Given the description of an element on the screen output the (x, y) to click on. 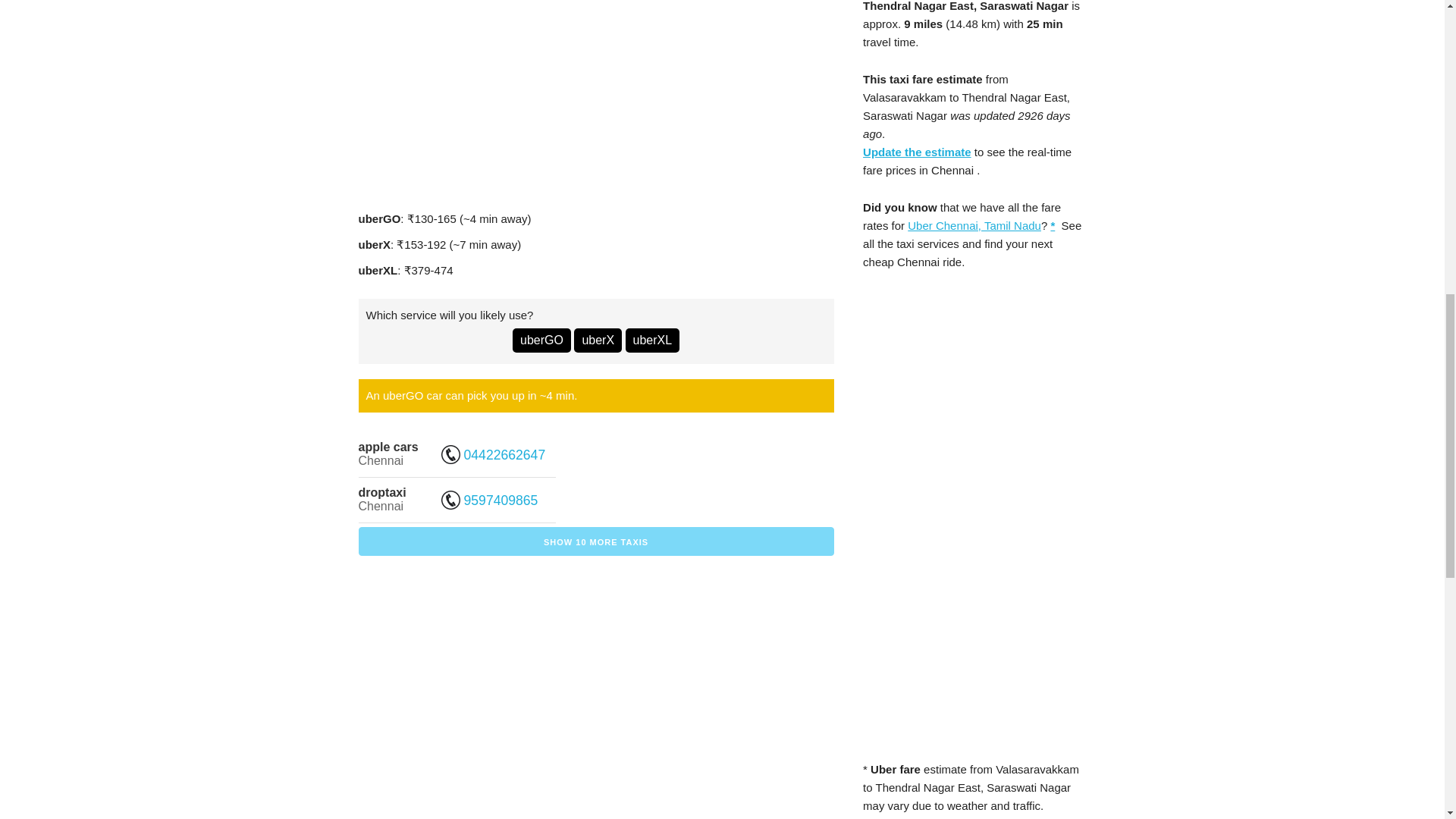
Show 10 more taxis (595, 541)
Advertisement (596, 97)
Update the estimate (917, 151)
Show 10 more taxis (595, 541)
Advertisement (596, 695)
9597409865 (491, 500)
04422662647 (494, 454)
Uber Chennai, Tamil Nadu (974, 225)
